Given the description of an element on the screen output the (x, y) to click on. 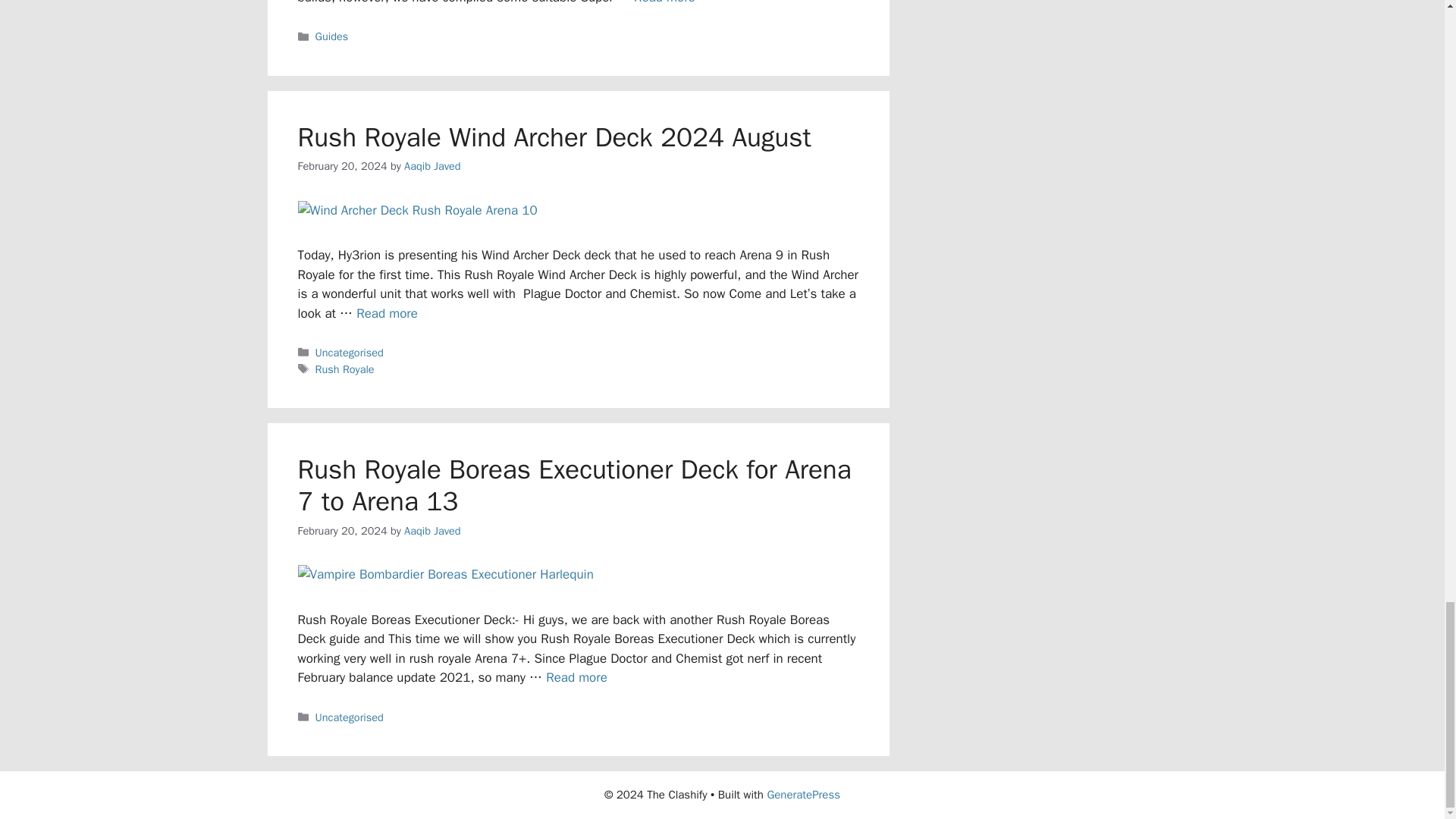
Rush Royale Boreas Executioner Deck for Arena 7 to Arena 13 (576, 677)
View all posts by Aaqib Javed (432, 165)
View all posts by Aaqib Javed (432, 530)
Uncategorised (349, 352)
Rush Royale Boreas Executioner Deck for Arena 7 to Arena 13 (573, 484)
Read more (576, 677)
Uncategorised (349, 716)
Read more (386, 313)
Rush Royale Wind Archer Deck 2024 August (553, 136)
Read more (664, 2)
